Given the description of an element on the screen output the (x, y) to click on. 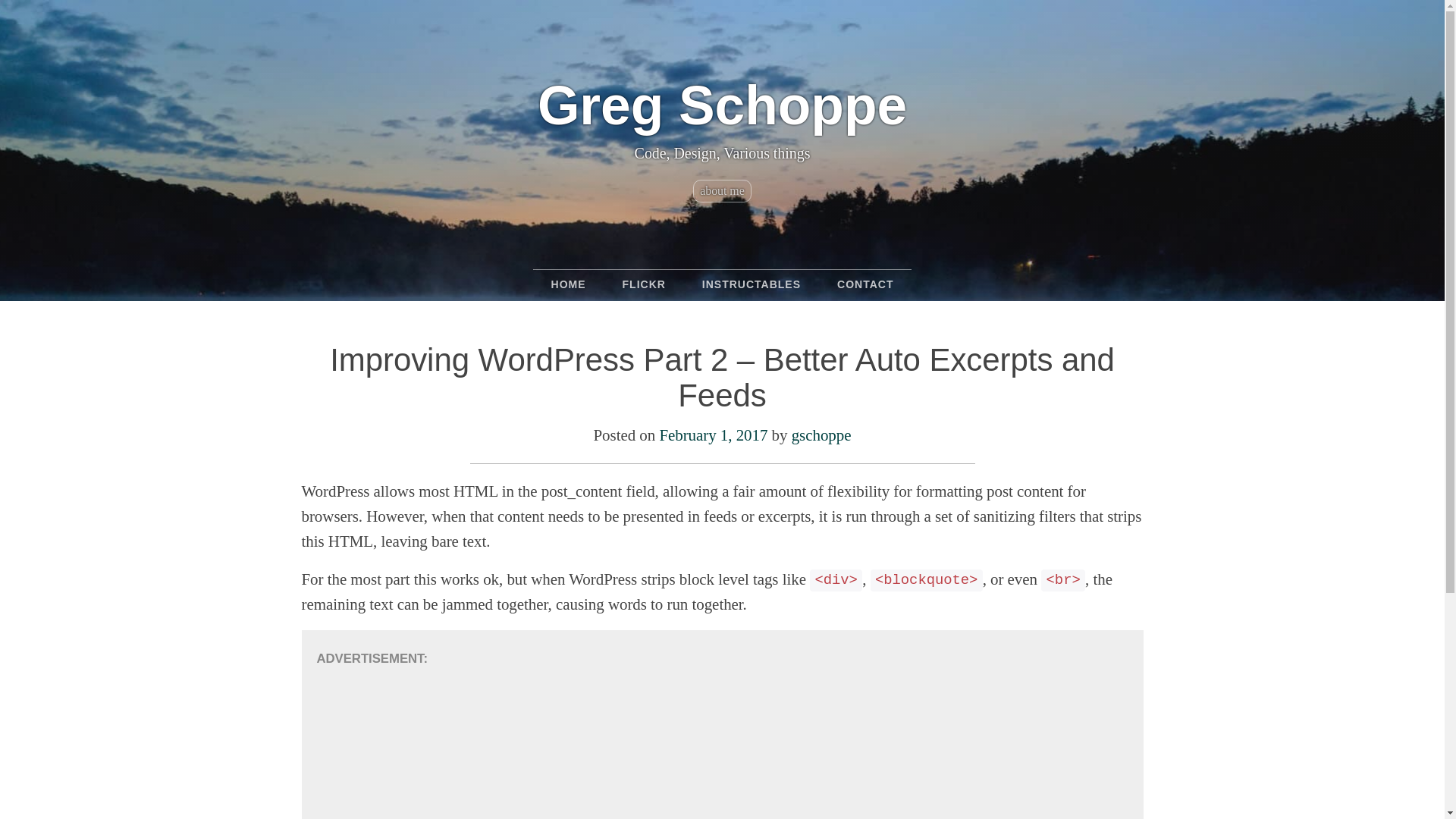
FLICKR (644, 283)
Greg Schoppe (721, 105)
1:55 pm (713, 434)
about me (722, 190)
gschoppe (821, 434)
Advertisement (722, 744)
View all posts by gschoppe (821, 434)
CONTACT (864, 283)
INSTRUCTABLES (751, 283)
Go to Greg Schoppe homepage (721, 105)
